Given the description of an element on the screen output the (x, y) to click on. 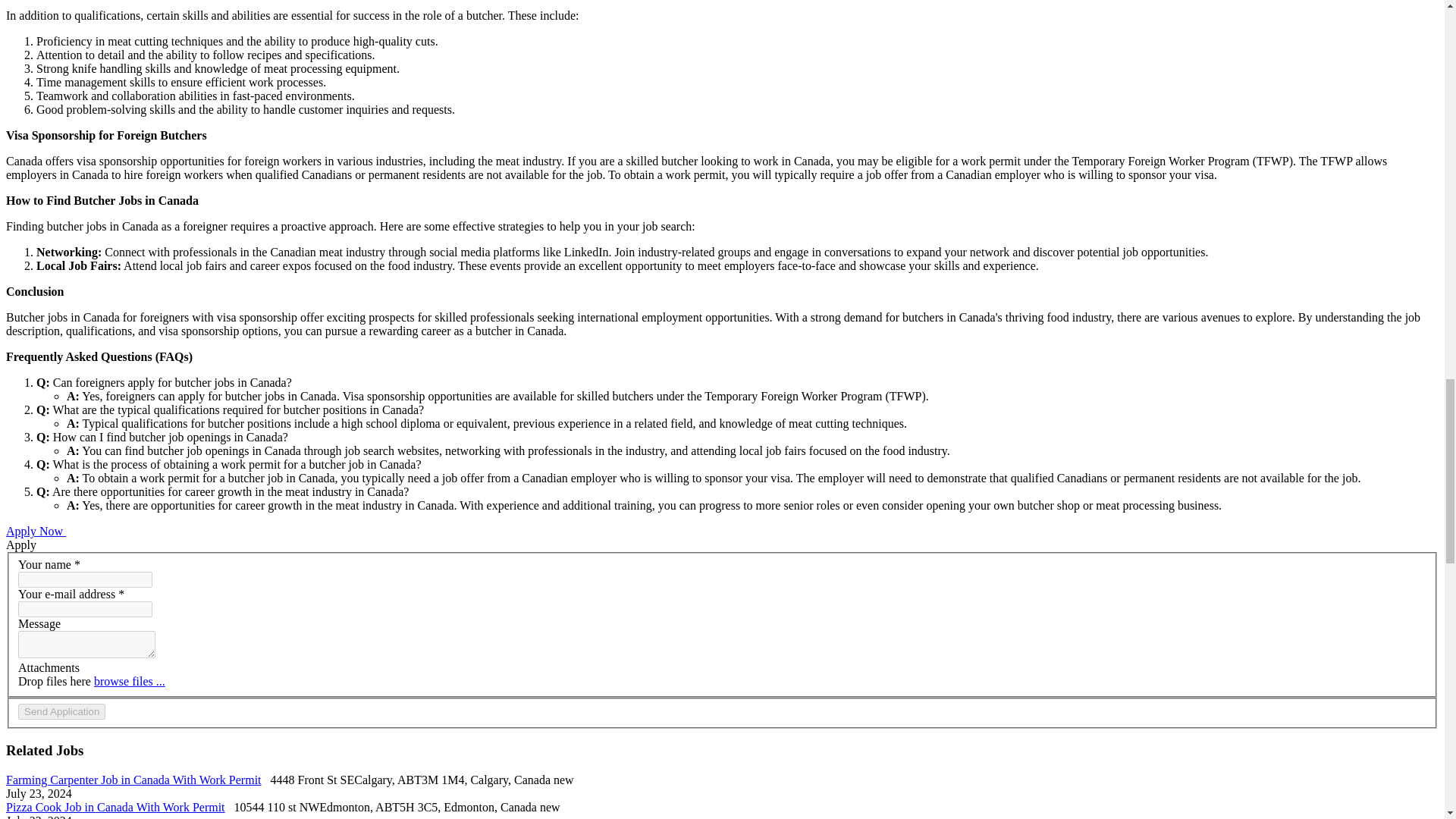
Apply Now  (35, 530)
Send Application (60, 711)
browse files ... (129, 680)
Pizza Cook Job in Canada With Work Permit (115, 807)
Send Application (60, 711)
Farming Carpenter Job in Canada With Work Permit (133, 779)
